Given the description of an element on the screen output the (x, y) to click on. 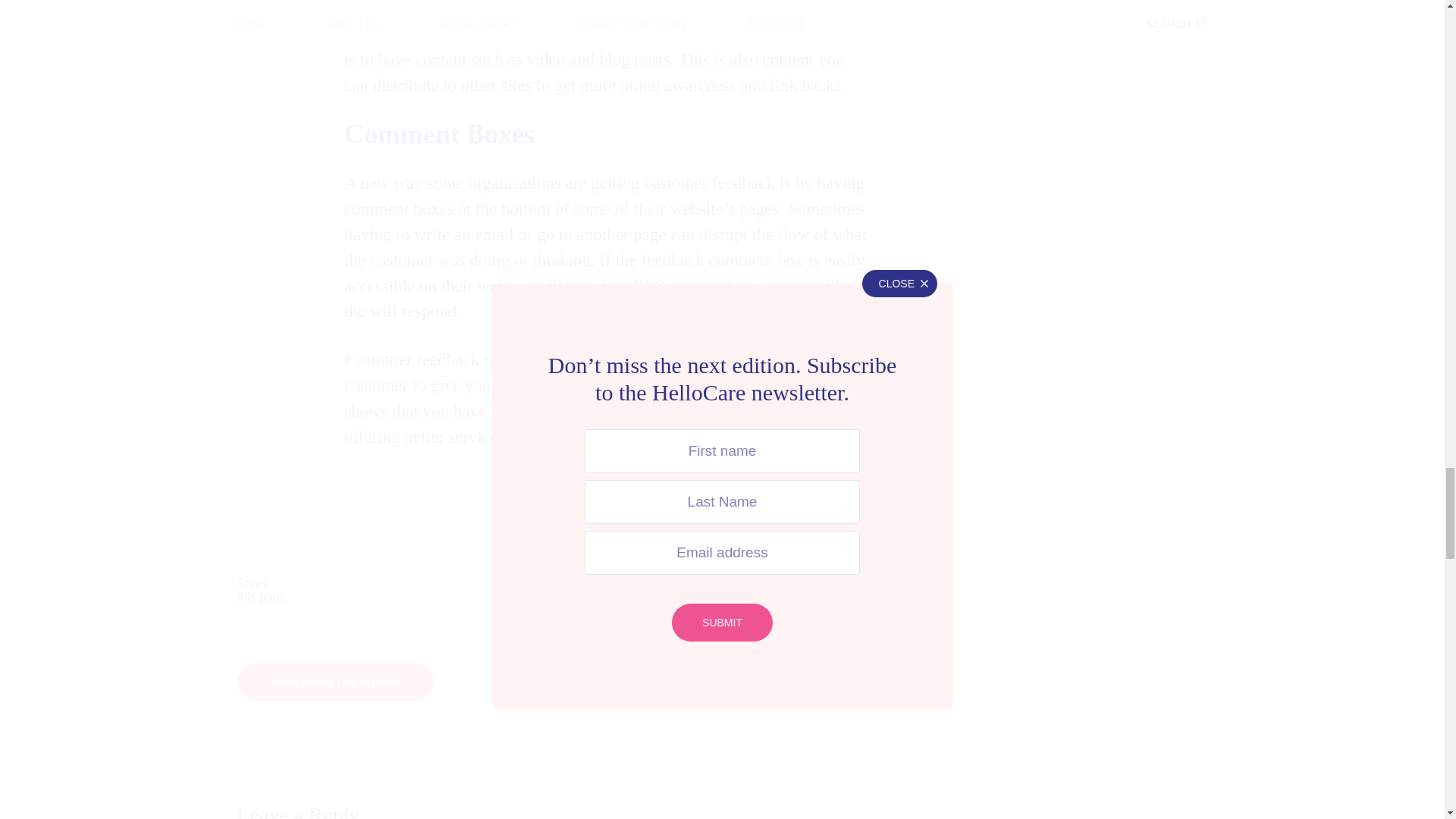
Share via Email (792, 590)
Share on Facebook (372, 590)
Share on Twitter (512, 590)
Share on linkedIn (652, 590)
